Given the description of an element on the screen output the (x, y) to click on. 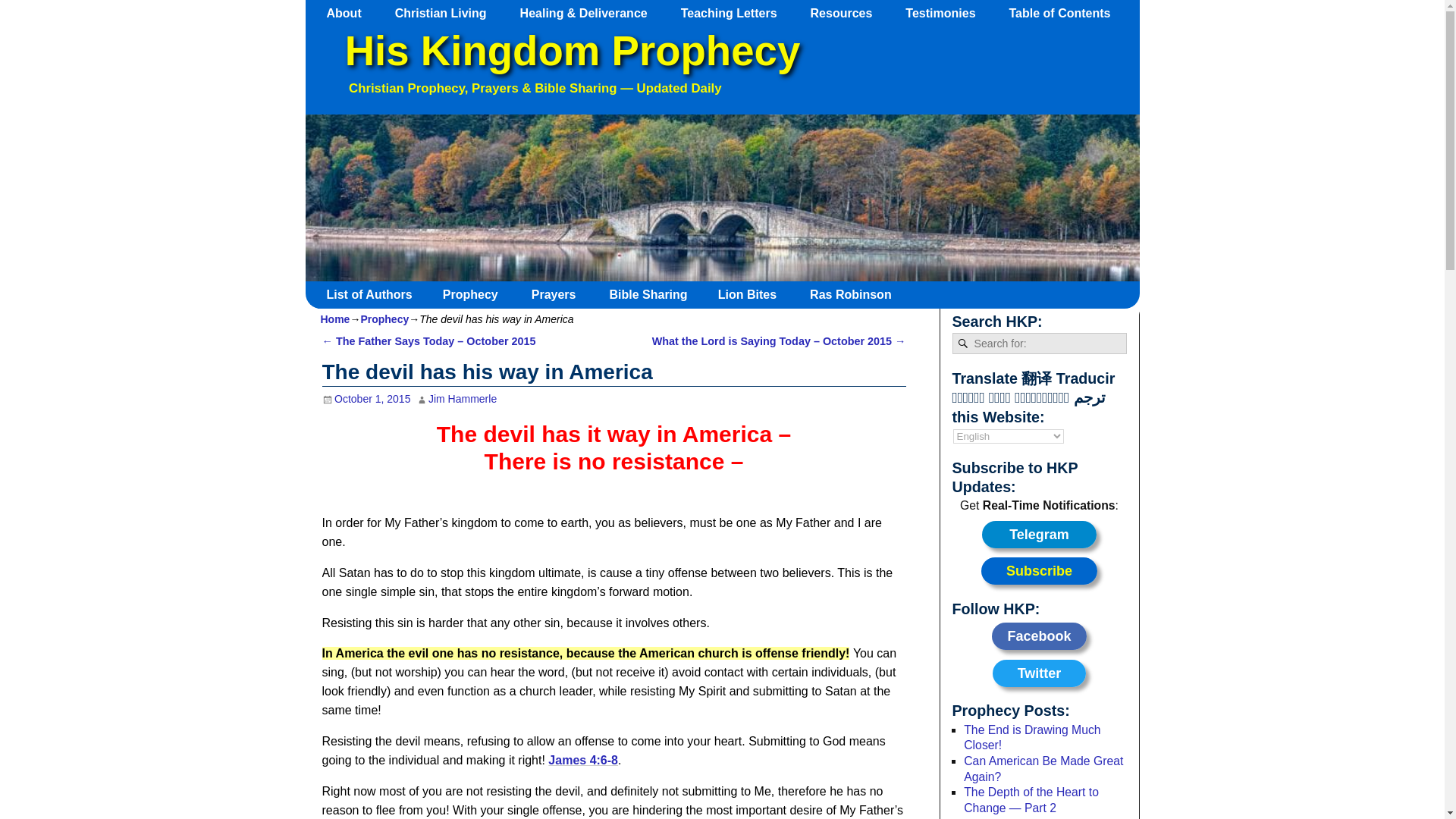
About (351, 13)
His Kingdom Prophecy (571, 50)
His Kingdom Prophecy (571, 50)
Resources (849, 13)
7:04 pm (365, 398)
Testimonies (947, 13)
Teaching Letters (736, 13)
Christian Living (448, 13)
View all posts by Jim Hammerle (462, 398)
Table of Contents (1066, 13)
List of Authors (374, 294)
